Given the description of an element on the screen output the (x, y) to click on. 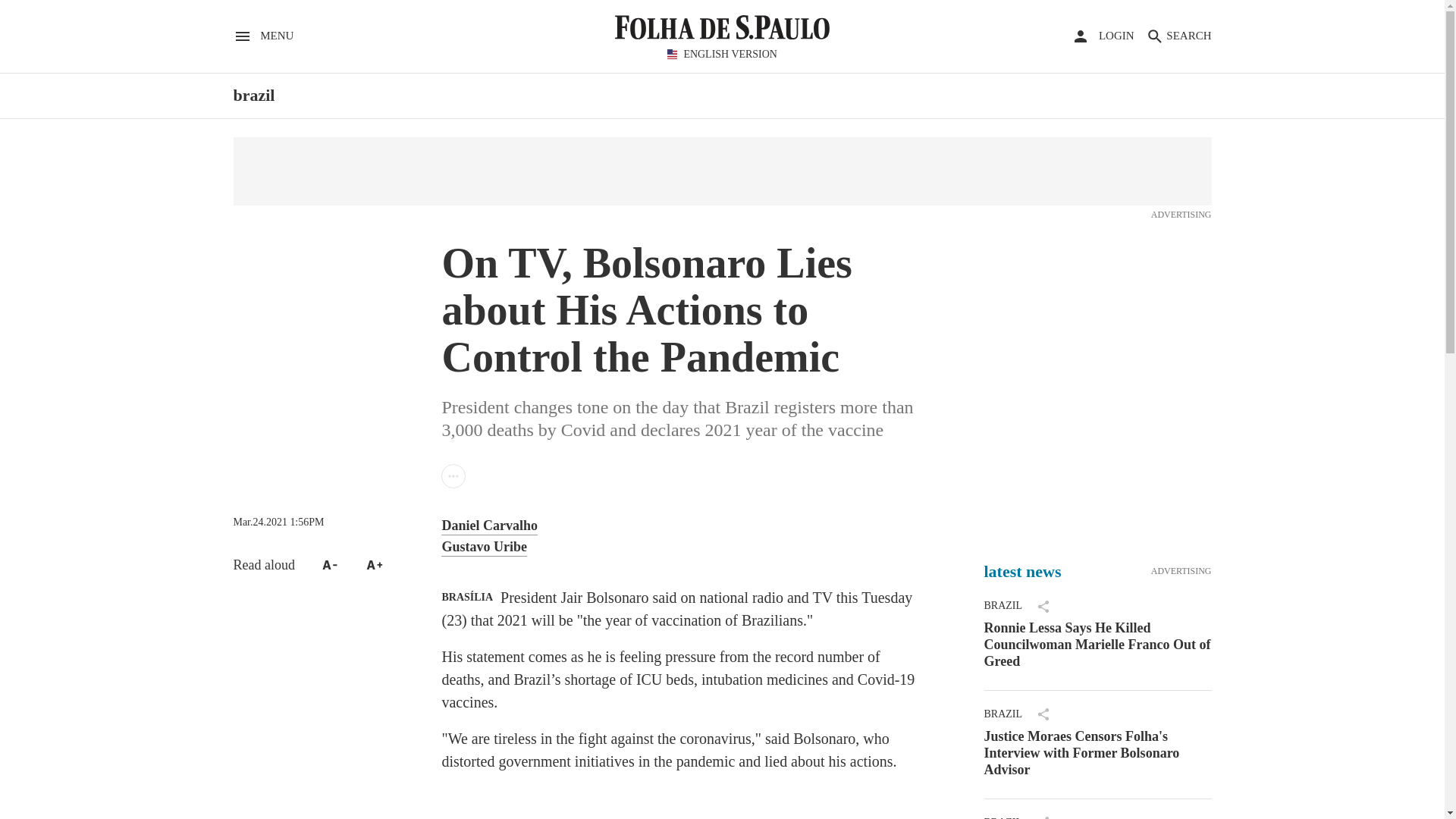
LOGIN (1102, 35)
SEARCH (1178, 35)
UNITED STATES OF AMERICA FLAG (671, 53)
brazil (263, 35)
Folha de S.Paulo (253, 94)
